Given the description of an element on the screen output the (x, y) to click on. 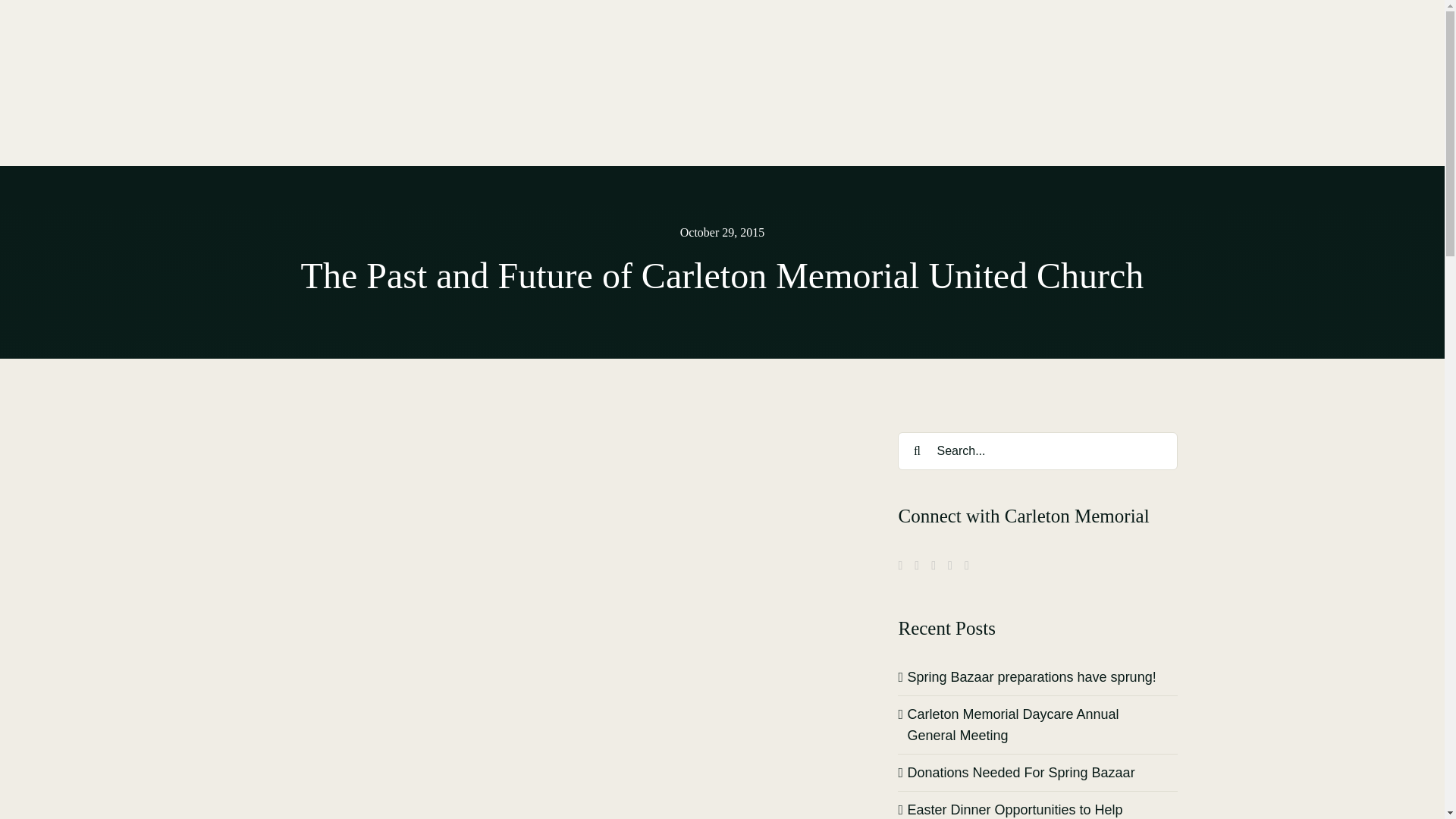
Carleton Memorial Daycare Annual General Meeting (1012, 724)
Donations Needed For Spring Bazaar (1020, 772)
Easter Dinner Opportunities to Help (1014, 809)
Spring Bazaar preparations have sprung! (1031, 676)
